Given the description of an element on the screen output the (x, y) to click on. 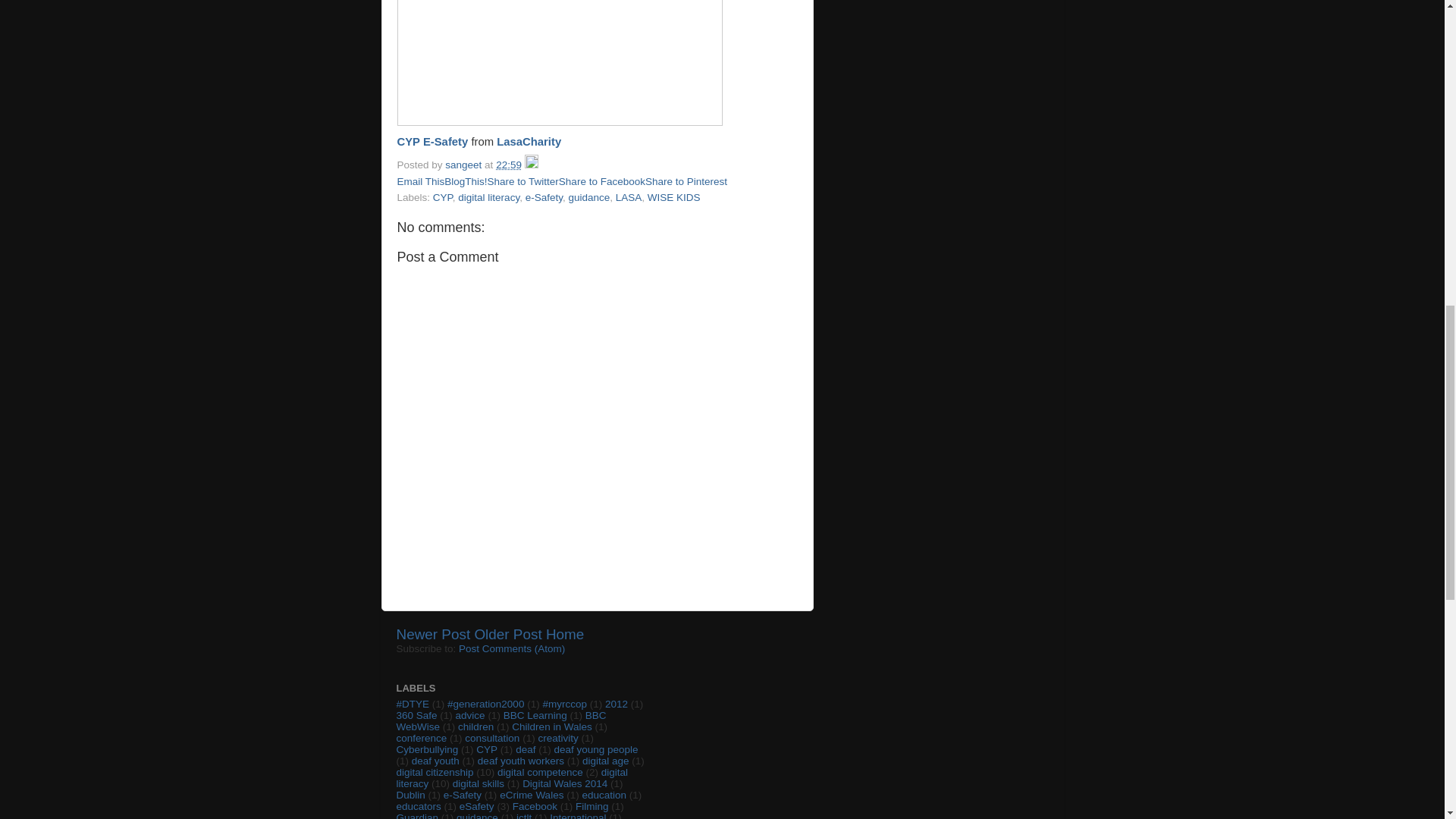
BBC Learning (535, 715)
LasaCharity (528, 141)
Edit Post (531, 164)
Home (564, 634)
children (475, 726)
Share to Twitter (523, 181)
digital literacy (488, 197)
22:59 (508, 164)
Share to Pinterest (685, 181)
Share to Pinterest (685, 181)
Share to Twitter (523, 181)
Older Post (507, 634)
advice (469, 715)
CYP E-Safety (432, 141)
Share to Facebook (602, 181)
